Given the description of an element on the screen output the (x, y) to click on. 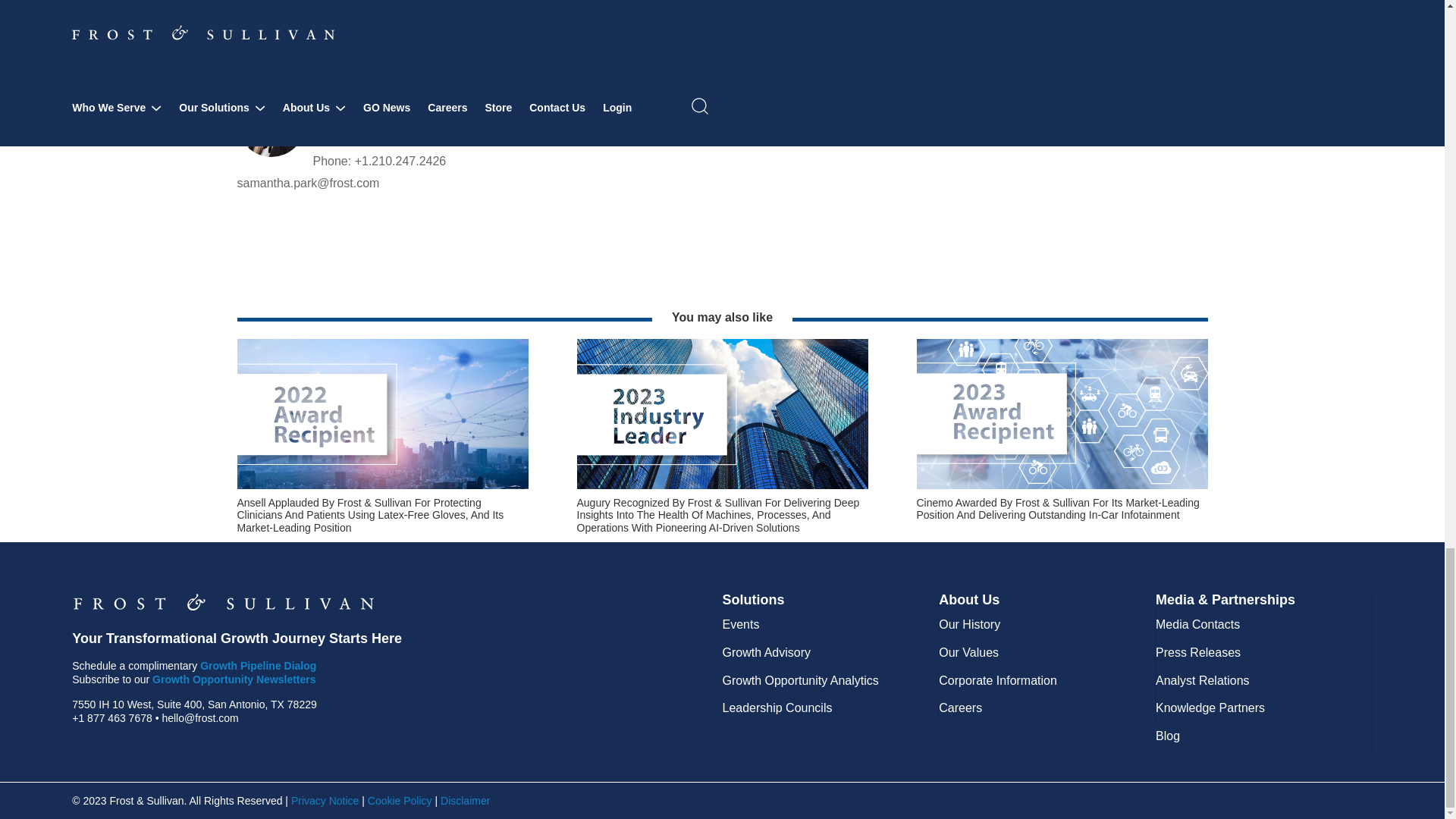
frostsullivanlogo (223, 601)
